Given the description of an element on the screen output the (x, y) to click on. 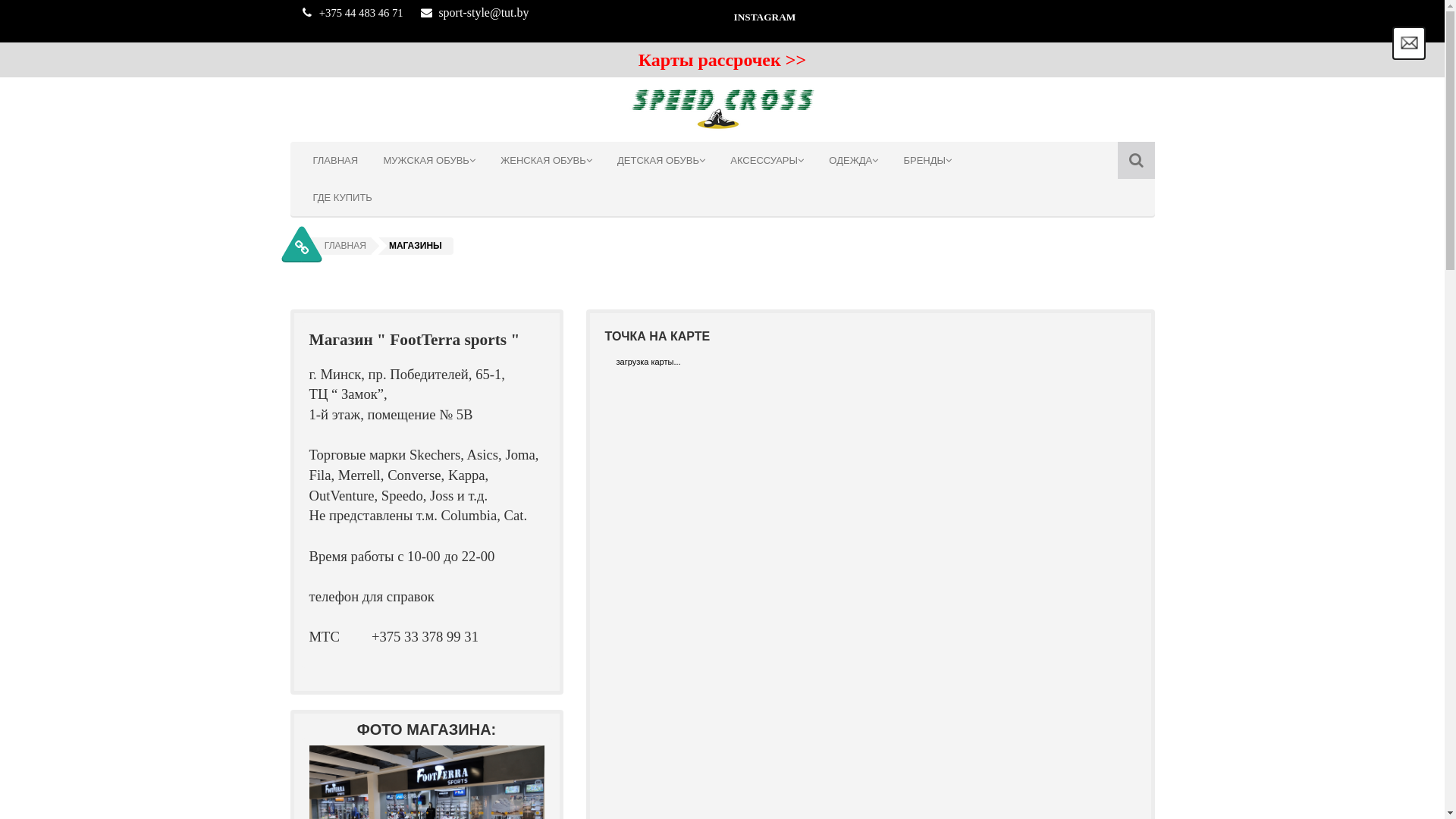
sport-style@tut.by Element type: text (483, 13)
>> Element type: text (795, 61)
  Element type: text (783, 61)
INSTAGRAM Element type: text (938, 19)
